Given the description of an element on the screen output the (x, y) to click on. 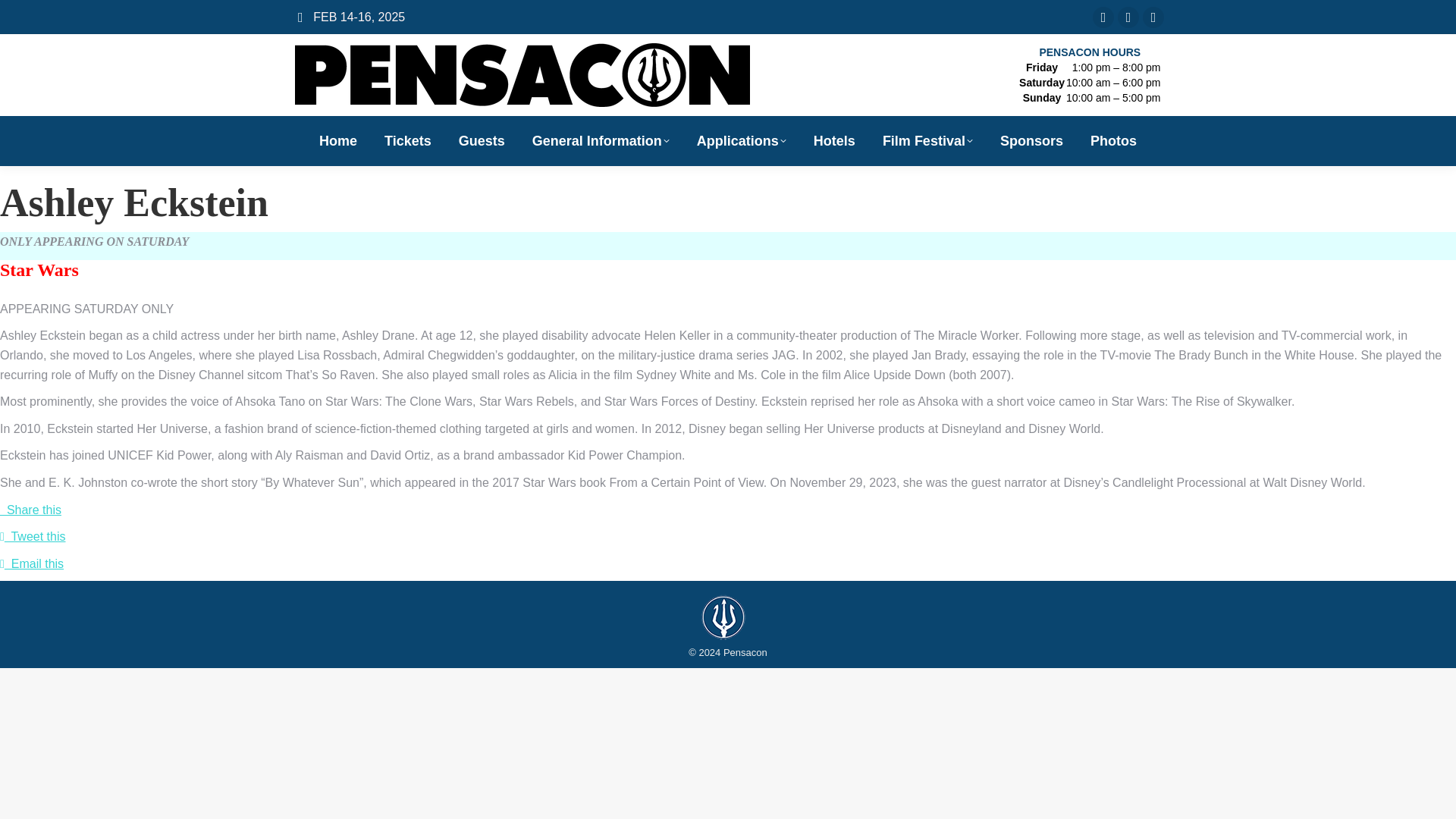
General Information (600, 140)
Facebook page opens in new window (1103, 16)
Sponsors (1031, 140)
YouTube page opens in new window (1128, 16)
Tickets (407, 140)
Film Festival (927, 140)
Facebook page opens in new window (1103, 16)
Instagram page opens in new window (1152, 16)
YouTube page opens in new window (1128, 16)
Instagram page opens in new window (1152, 16)
Photos (1113, 140)
Hotels (834, 140)
Guests (481, 140)
Applications (741, 140)
Home (337, 140)
